Given the description of an element on the screen output the (x, y) to click on. 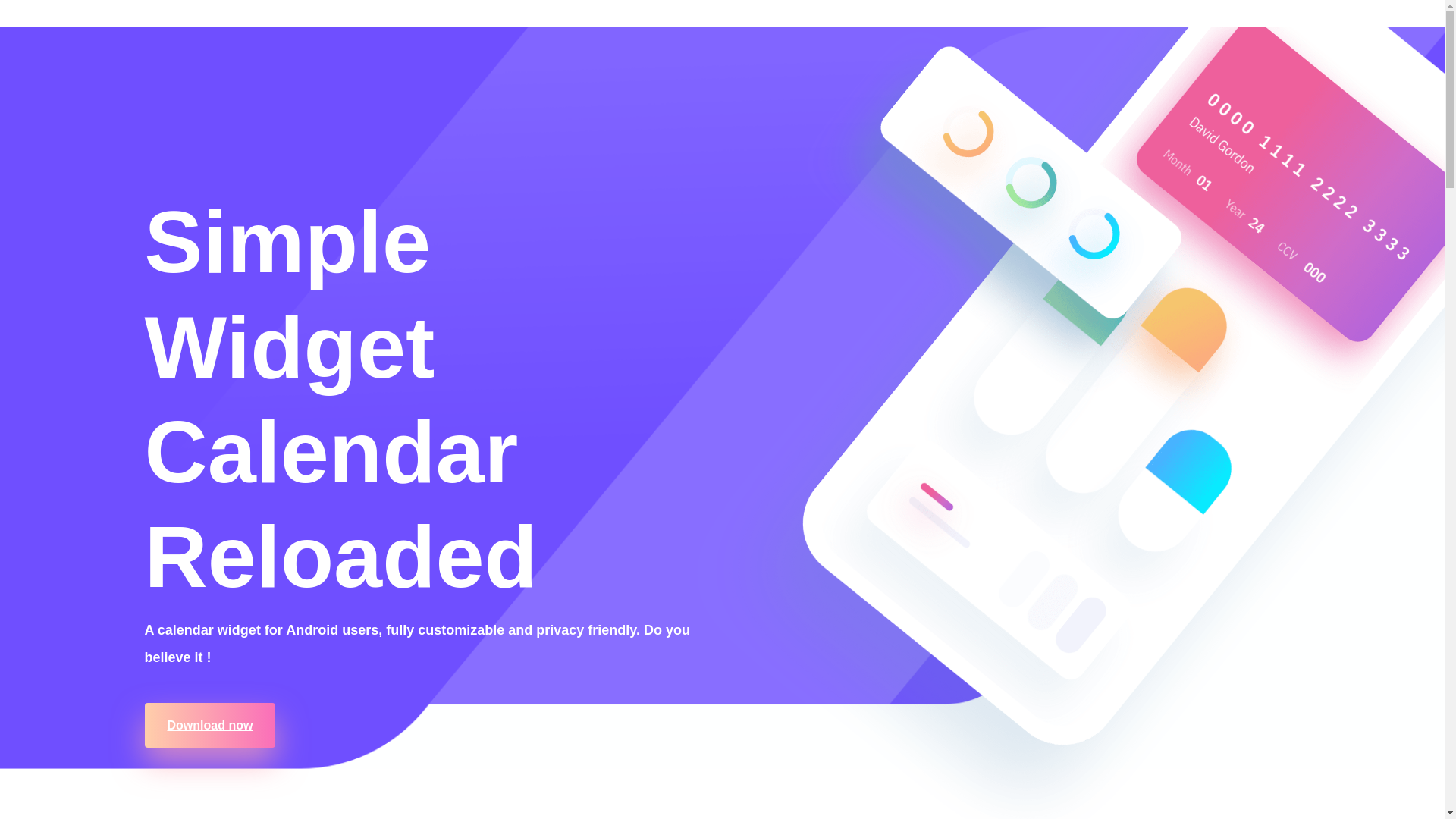
Download now (209, 724)
